Given the description of an element on the screen output the (x, y) to click on. 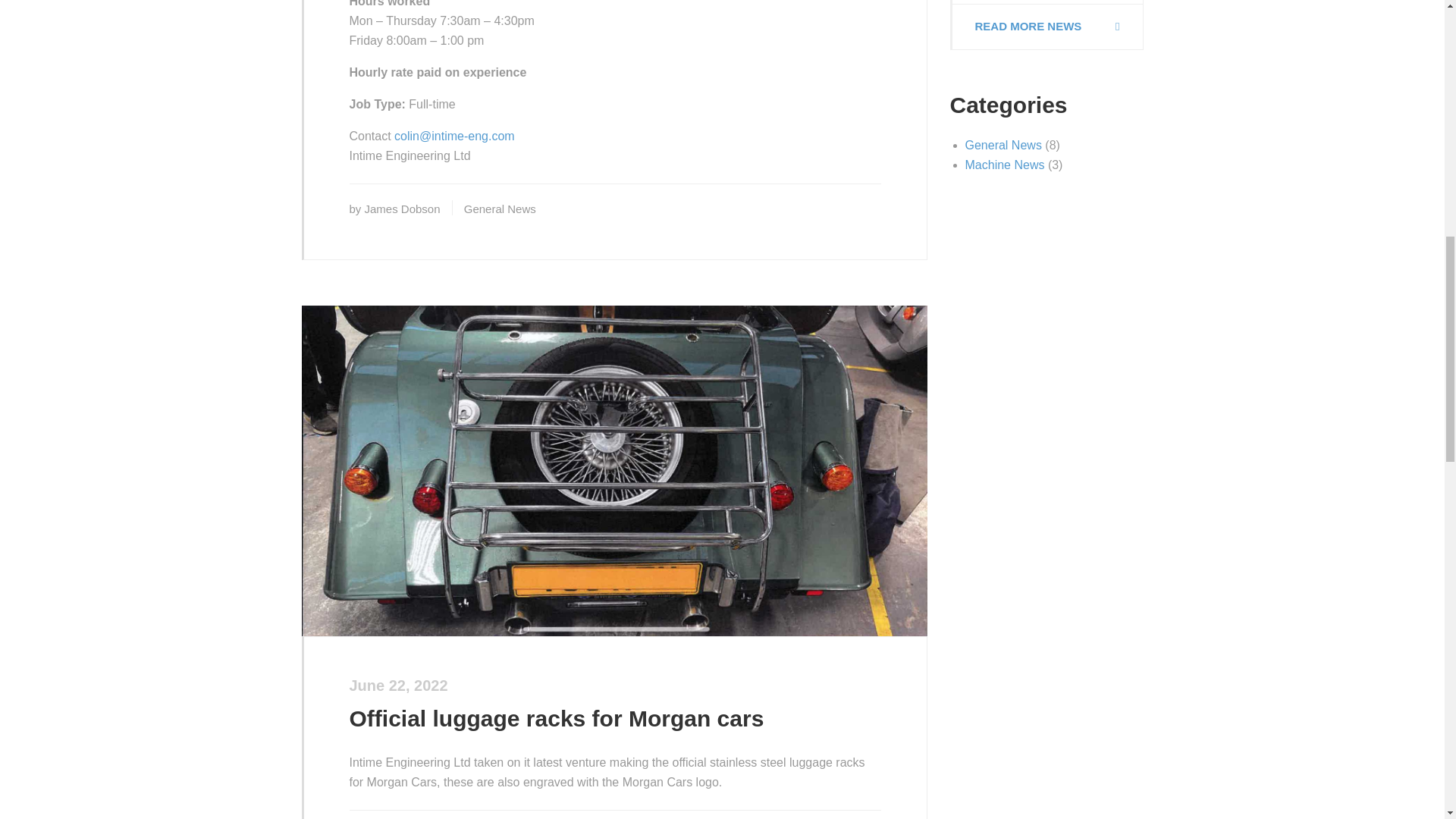
General News (499, 208)
READ MORE NEWS (1045, 26)
Official luggage racks for Morgan cars (555, 718)
